Given the description of an element on the screen output the (x, y) to click on. 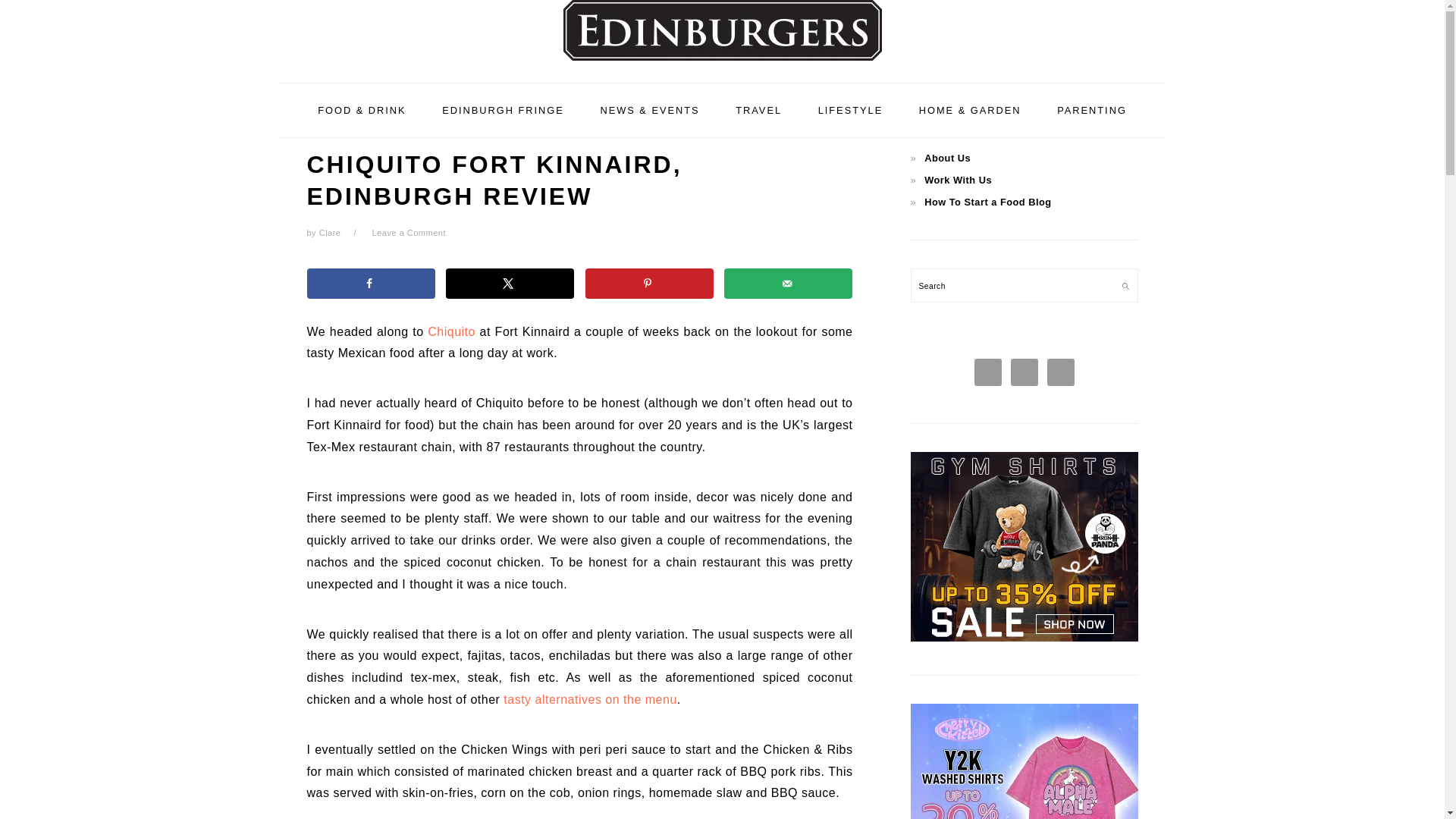
How To Start a Food Blog (987, 202)
About Us (947, 157)
Send over email (787, 283)
TRAVEL (758, 109)
tasty alternatives on the menu (590, 698)
Chiquito (452, 331)
Edinburgers (722, 38)
Save to Pinterest (649, 283)
